Given the description of an element on the screen output the (x, y) to click on. 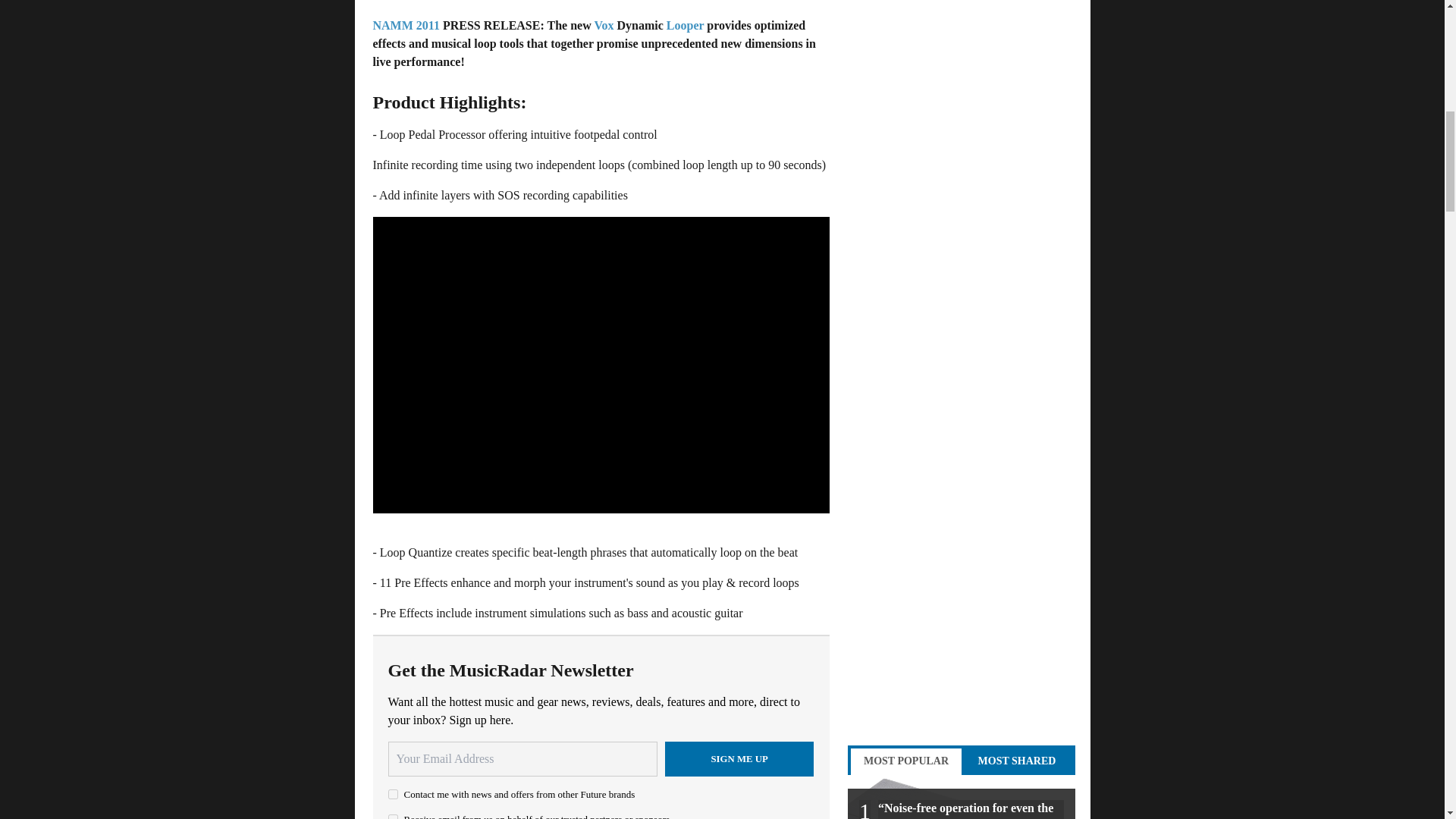
on (392, 816)
Sign me up (739, 759)
on (392, 794)
